Given the description of an element on the screen output the (x, y) to click on. 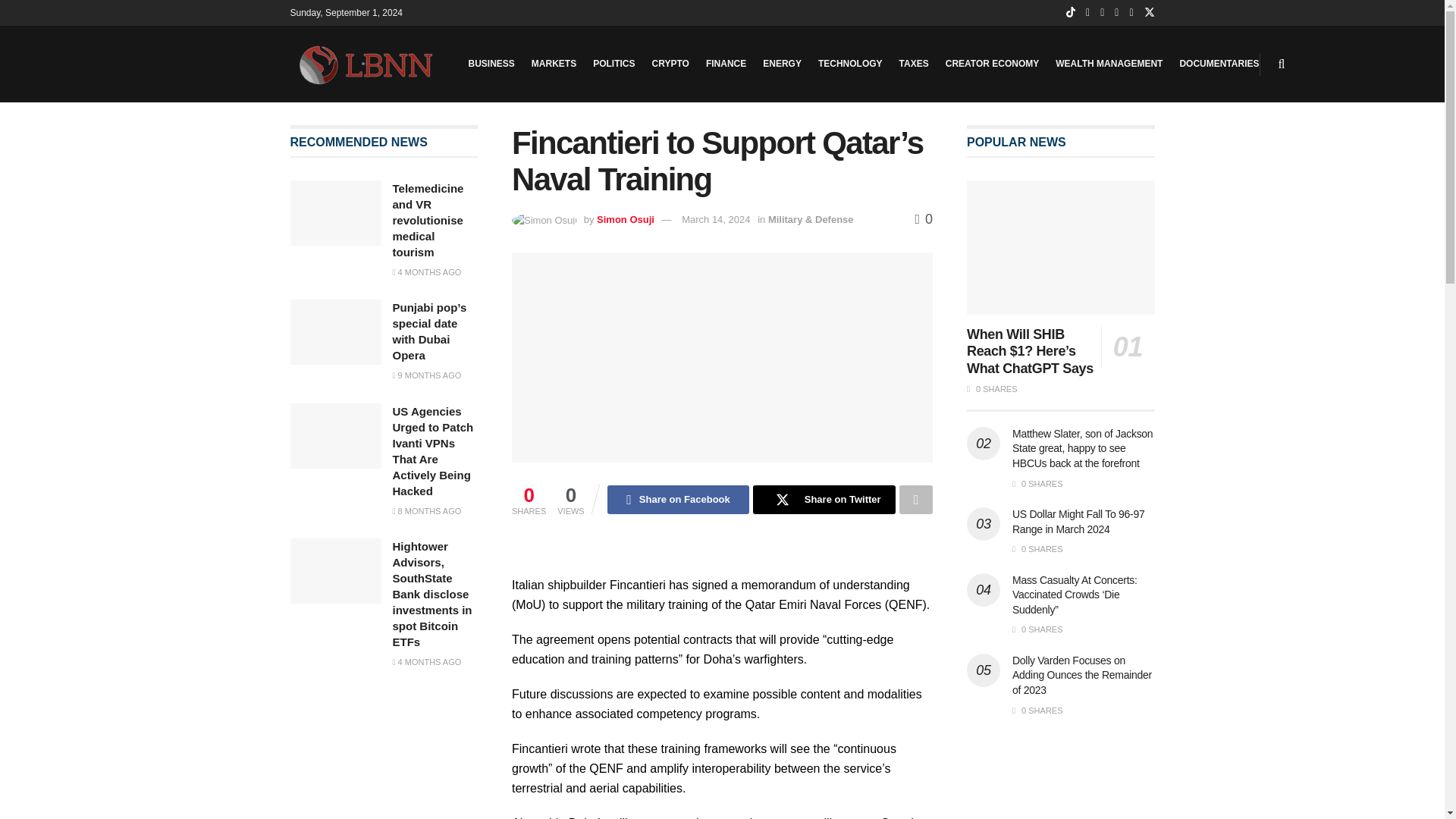
0 (923, 218)
Simon Osuji (624, 219)
CREATOR ECONOMY (991, 63)
Share on Twitter (823, 499)
DOCUMENTARIES (1219, 63)
WEALTH MANAGEMENT (1108, 63)
Share on Facebook (678, 499)
March 14, 2024 (715, 219)
